Given the description of an element on the screen output the (x, y) to click on. 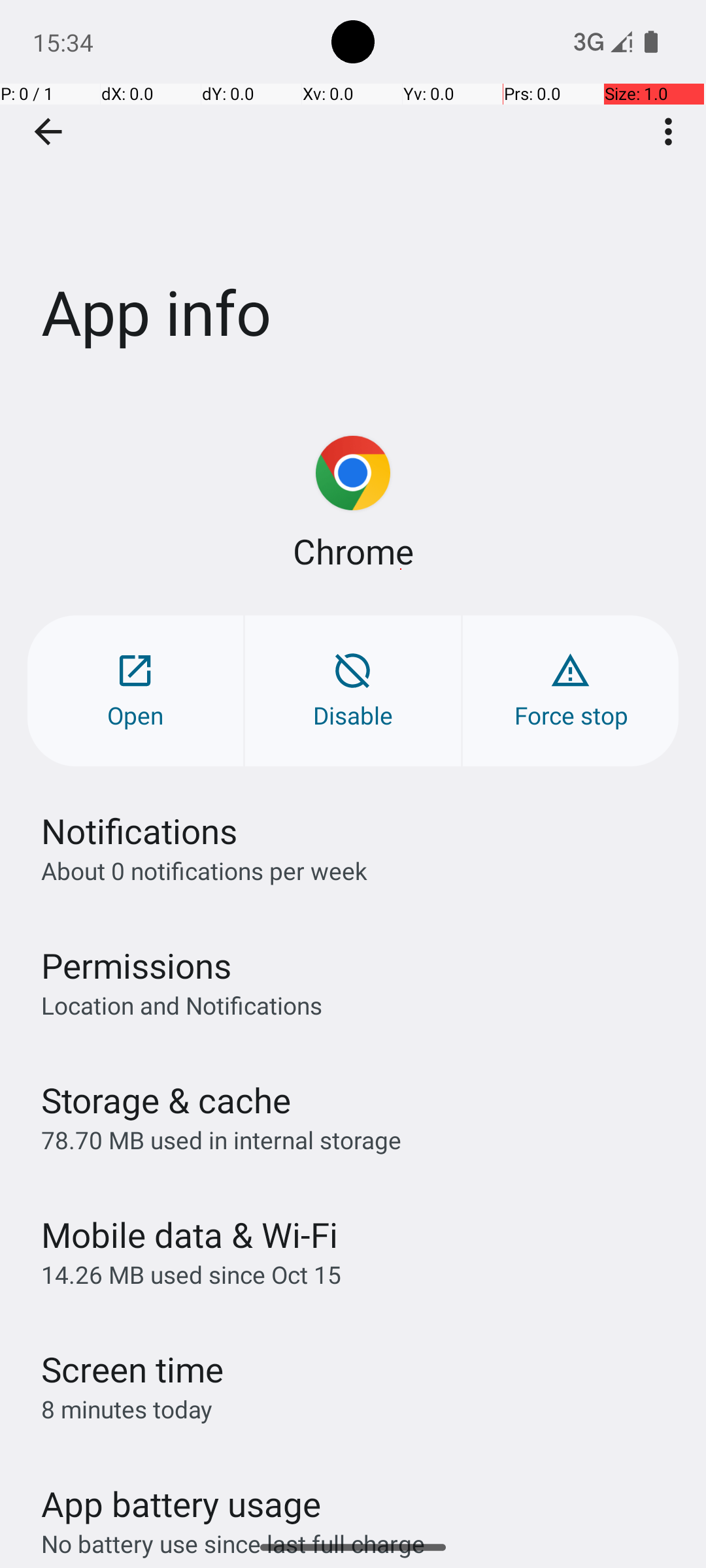
App info Element type: android.widget.FrameLayout (353, 195)
Open Element type: android.widget.Button (135, 690)
Disable Element type: android.widget.Button (352, 690)
Force stop Element type: android.widget.Button (570, 690)
Notifications Element type: android.widget.TextView (139, 830)
About 0 notifications per week Element type: android.widget.TextView (204, 870)
Permissions Element type: android.widget.TextView (136, 965)
Location and Notifications Element type: android.widget.TextView (181, 1004)
Storage & cache Element type: android.widget.TextView (166, 1099)
78.70 MB used in internal storage Element type: android.widget.TextView (221, 1139)
Mobile data & Wi‑Fi Element type: android.widget.TextView (189, 1234)
14.26 MB used since Oct 15 Element type: android.widget.TextView (191, 1273)
Screen time Element type: android.widget.TextView (132, 1368)
8 minutes today Element type: android.widget.TextView (127, 1408)
App battery usage Element type: android.widget.TextView (181, 1503)
